Given the description of an element on the screen output the (x, y) to click on. 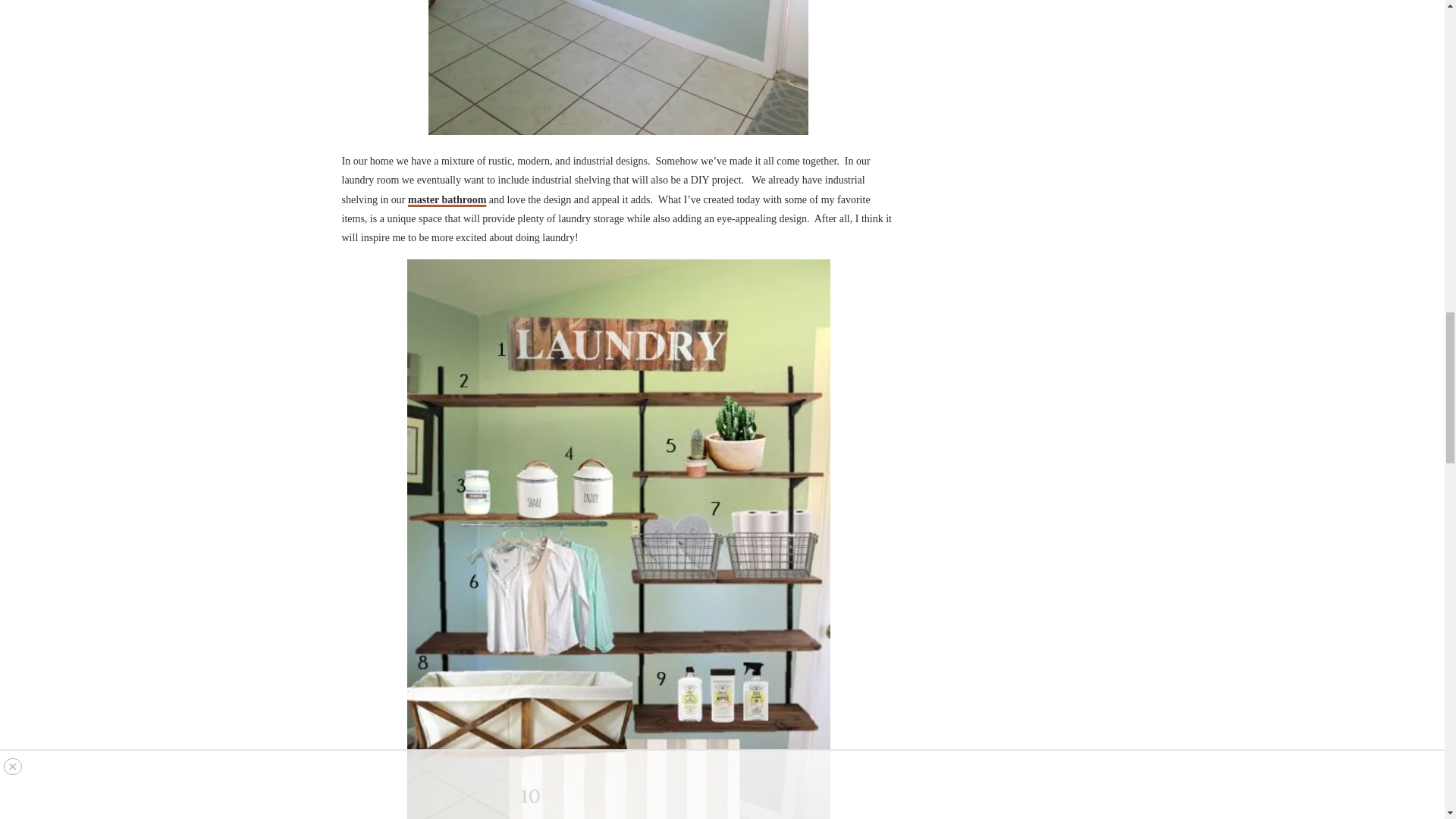
master bathroom (446, 199)
